Given the description of an element on the screen output the (x, y) to click on. 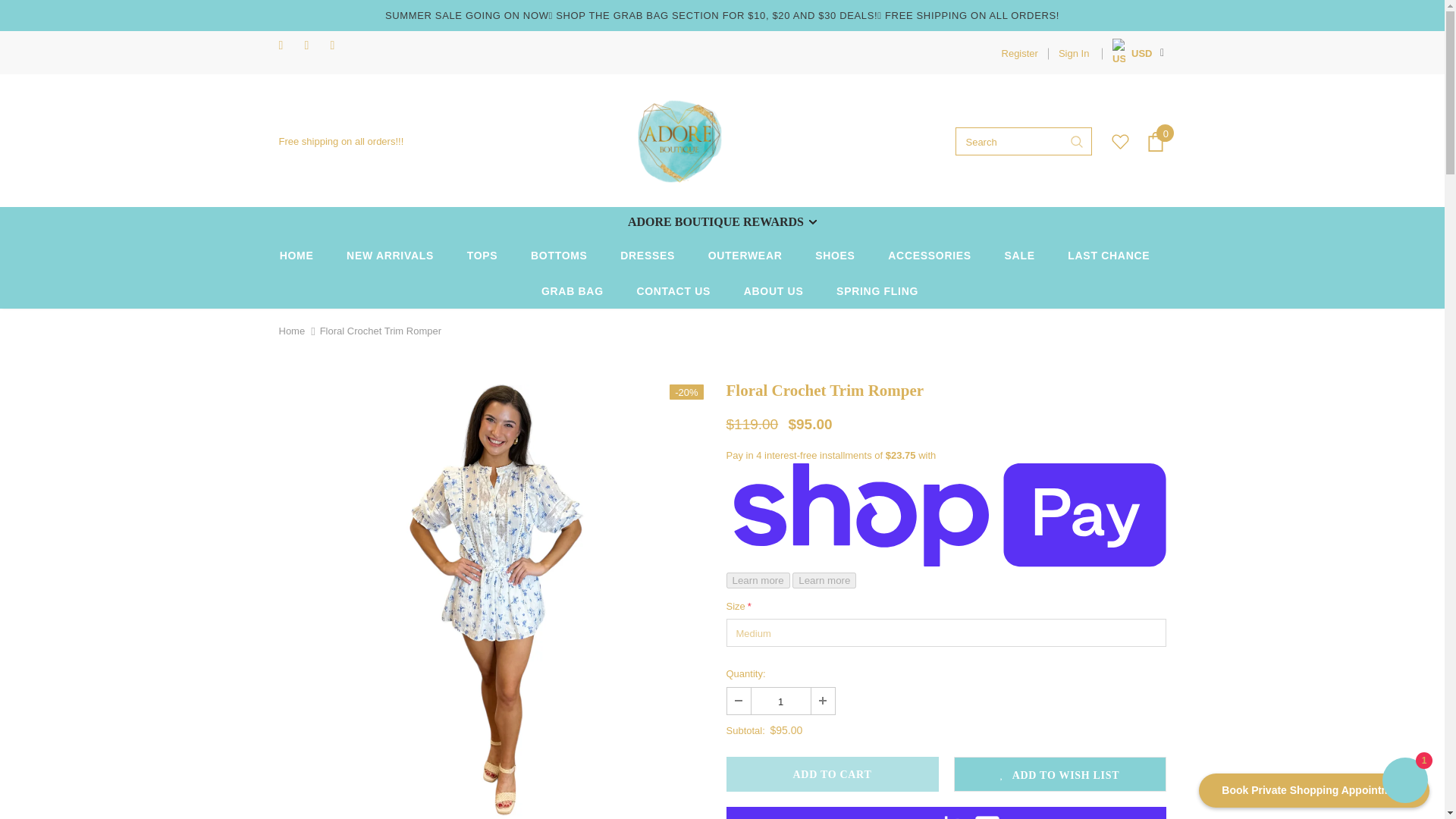
TOPS (482, 254)
Instagram (313, 45)
Logo (678, 141)
Add to Cart (832, 773)
OUTERWEAR (745, 254)
0 (1155, 141)
Register (1019, 53)
Sign In (1068, 53)
BOTTOMS (559, 254)
HOME (296, 254)
SHOES (835, 254)
1 (780, 700)
DRESSES (647, 254)
Facebook (288, 45)
Pinterest (339, 45)
